Given the description of an element on the screen output the (x, y) to click on. 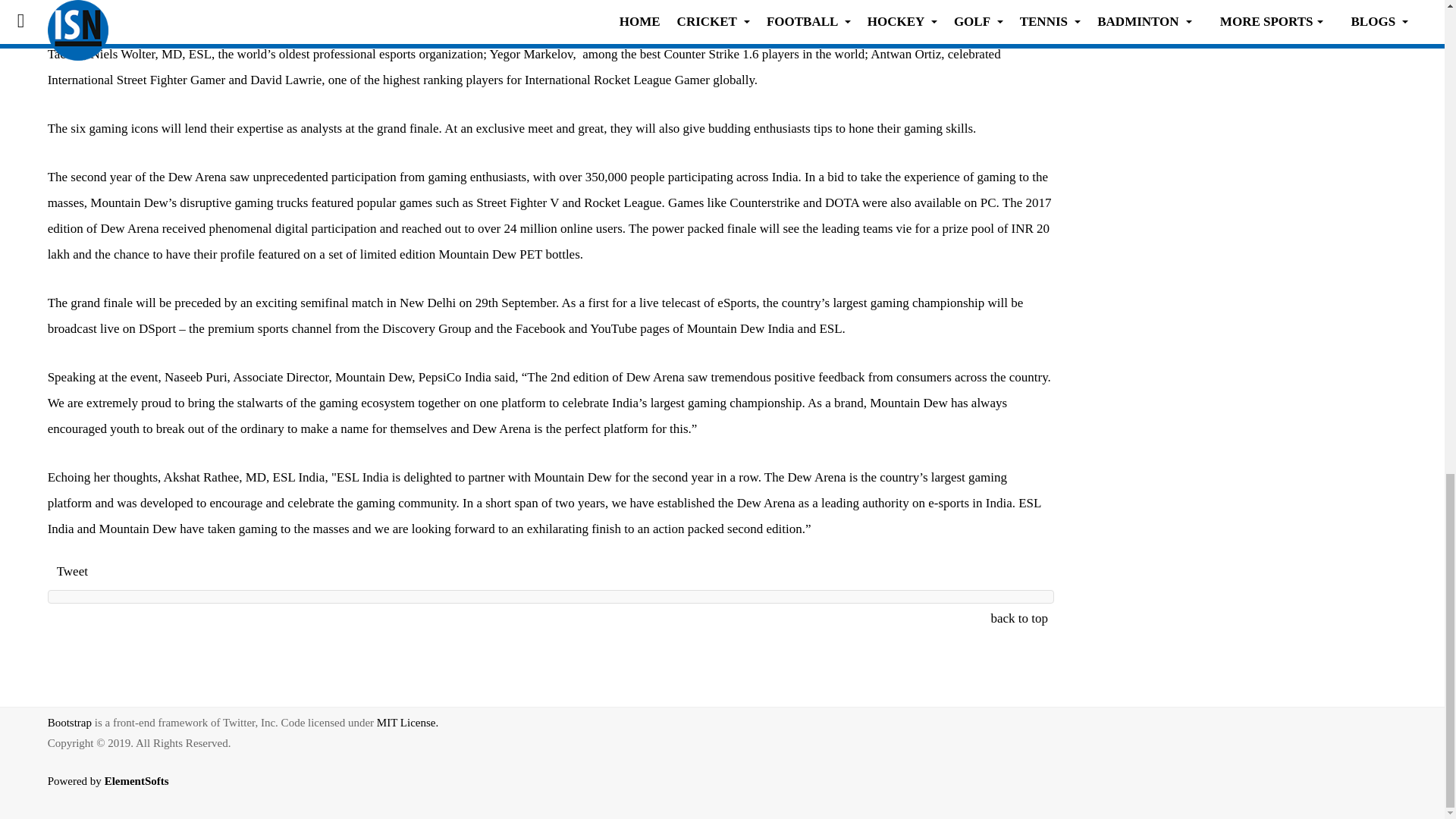
MIT License (407, 722)
Bootstrap by Twitter (69, 722)
Powered By ElementSofts (117, 792)
